Given the description of an element on the screen output the (x, y) to click on. 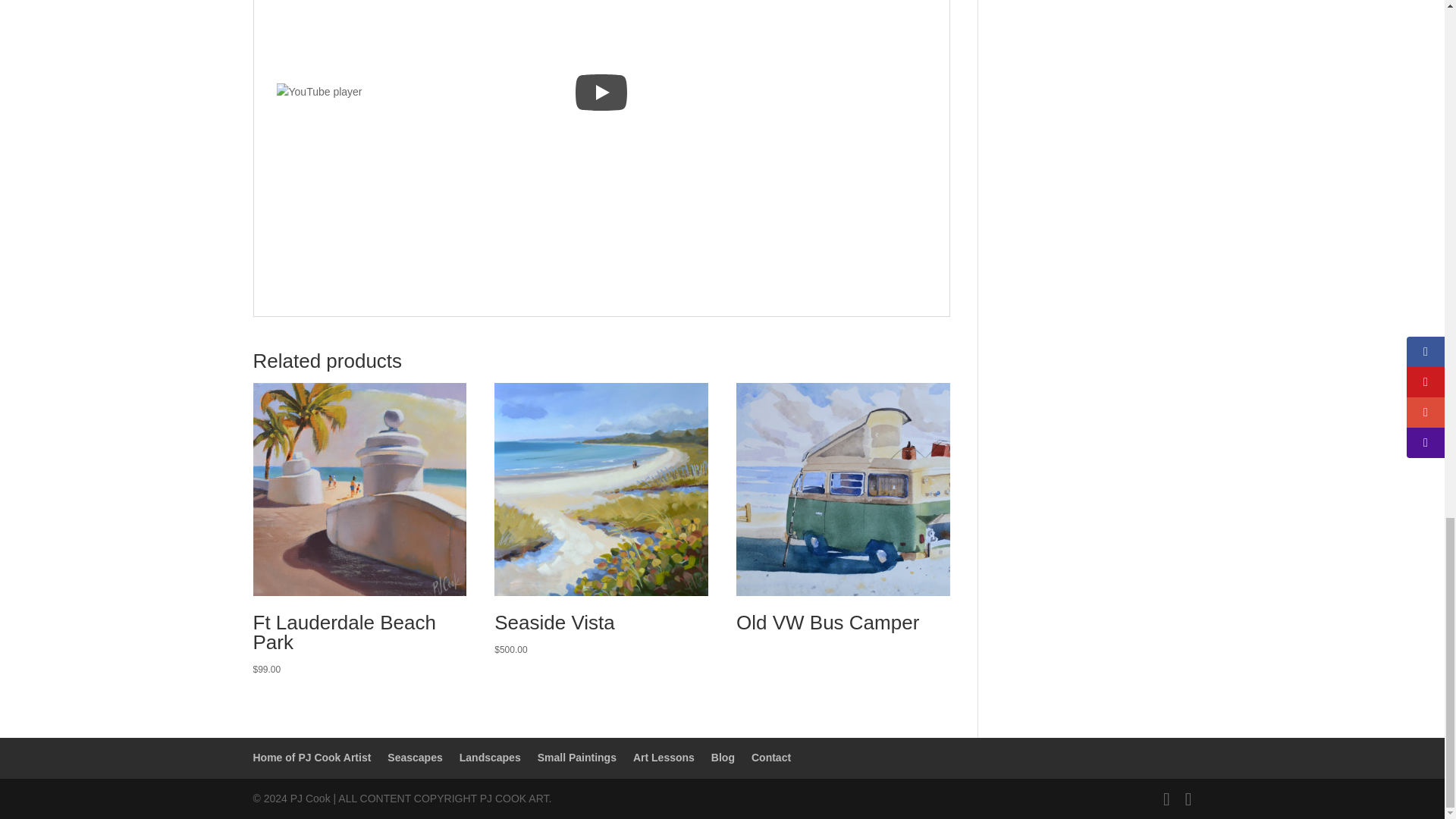
Learn How to Paint (663, 757)
Landscapes and Birds (490, 757)
Shoreline Scenes (414, 757)
